Given the description of an element on the screen output the (x, y) to click on. 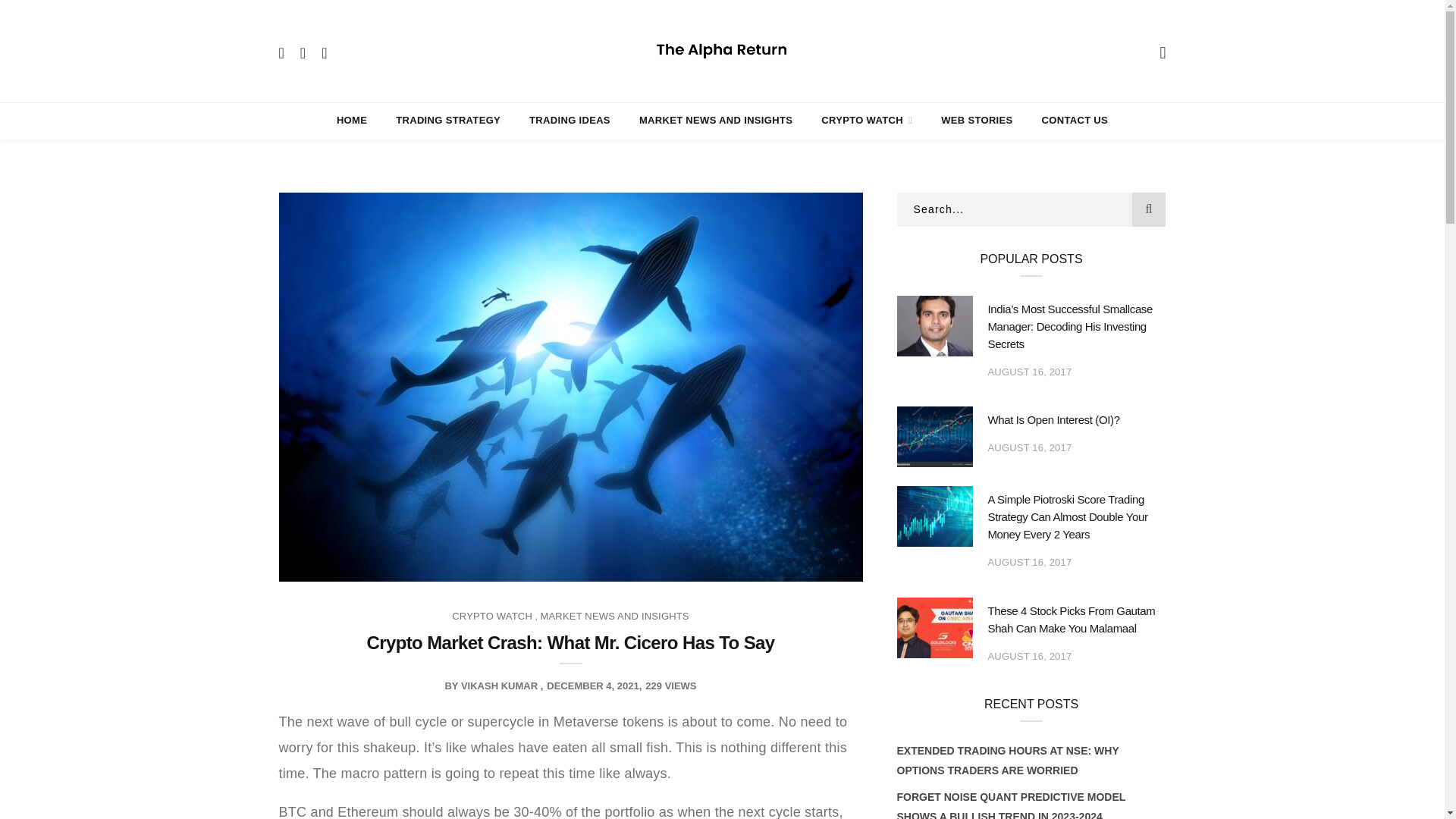
Trading strategy (448, 120)
TRADING IDEAS (569, 120)
MARKET NEWS AND INSIGHTS (715, 120)
Trading Ideas (569, 120)
VIKASH KUMAR (499, 685)
CRYPTO WATCH (866, 120)
MARKET NEWS AND INSIGHTS (614, 615)
Web Stories (975, 120)
CONTACT US (1075, 120)
Market News And Insights (715, 120)
Home (351, 120)
TRADING STRATEGY (448, 120)
HOME (351, 120)
CRYPTO WATCH (491, 615)
Crypto Watch (866, 120)
